Given the description of an element on the screen output the (x, y) to click on. 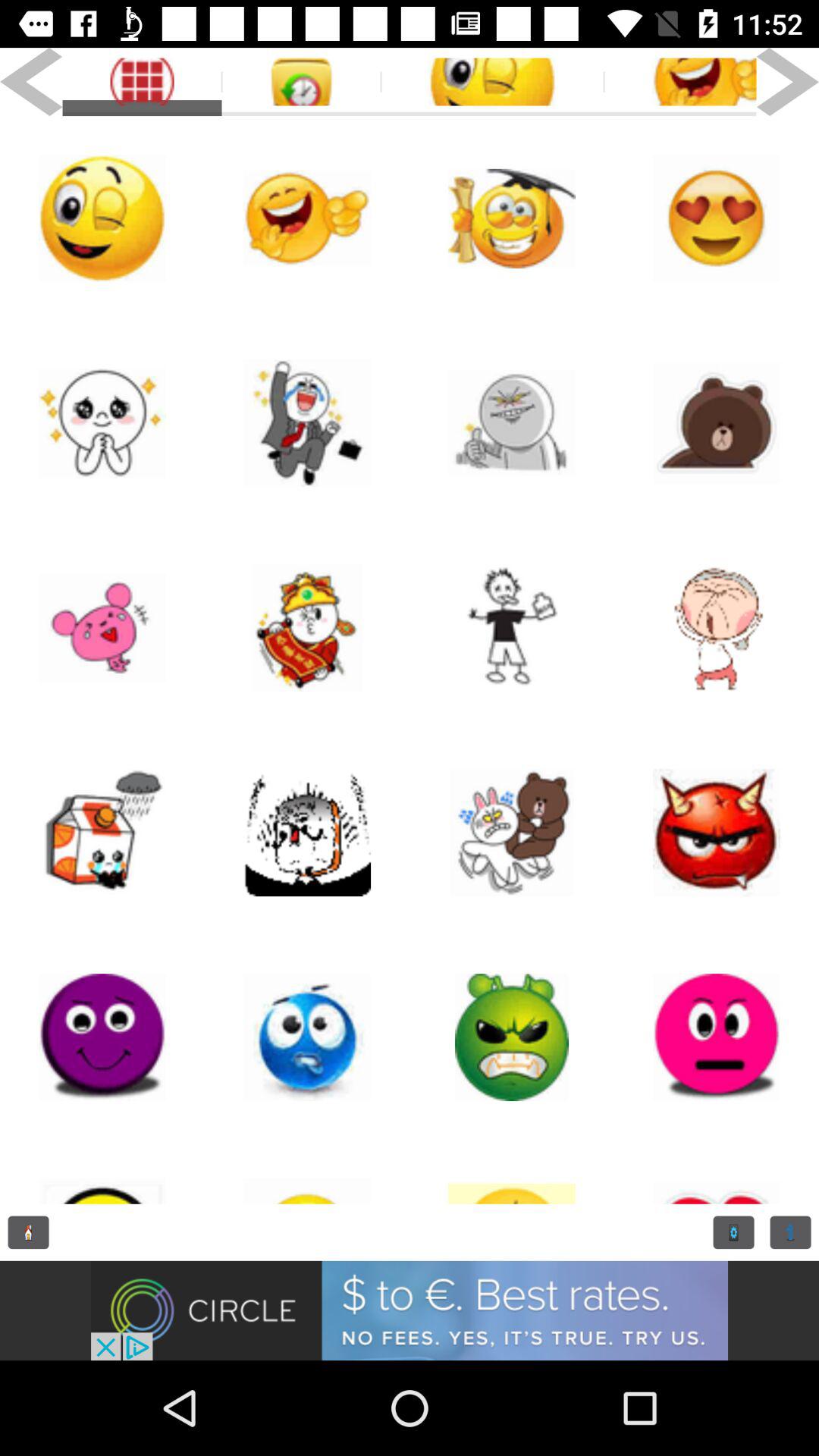
colour pitcure page (102, 627)
